Given the description of an element on the screen output the (x, y) to click on. 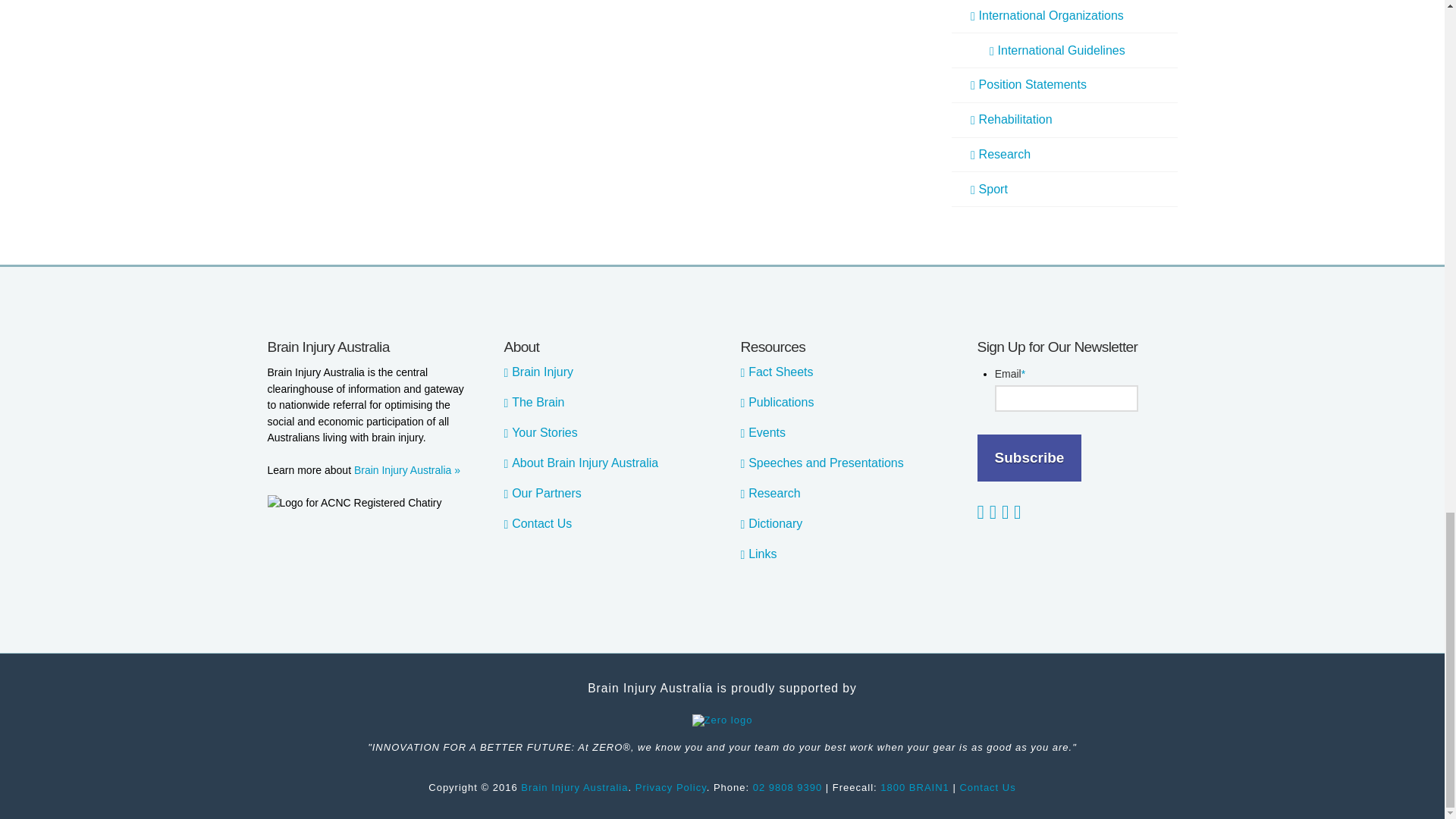
About Us (406, 469)
ACNC Registered Chatiry (353, 503)
Subscribe (1028, 458)
Brain Injury Australia website (574, 787)
